Given the description of an element on the screen output the (x, y) to click on. 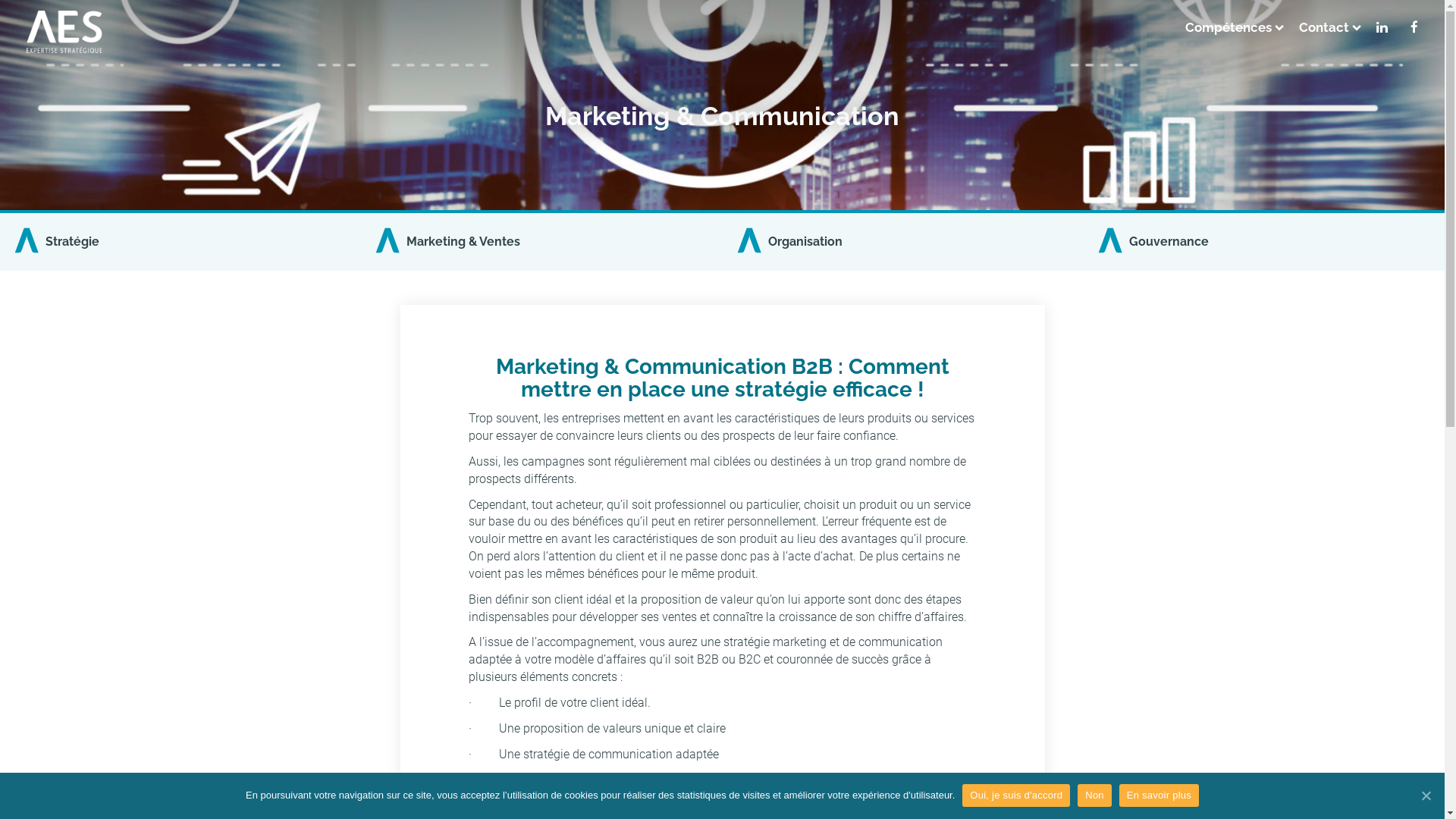
Organisation Element type: text (901, 241)
<i class="fa fa-facebook"></i> Element type: hover (1414, 23)
Oui, je suis d'accord Element type: text (1016, 795)
Aller au contenu Element type: text (0, 0)
Marketing & Ventes Element type: text (540, 241)
En savoir plus Element type: text (1158, 795)
<i class="fa fa-linkedin"></i> Element type: hover (1382, 23)
Non Element type: text (1094, 795)
Contact Element type: text (1326, 23)
Gouvernance Element type: text (1263, 241)
